Given the description of an element on the screen output the (x, y) to click on. 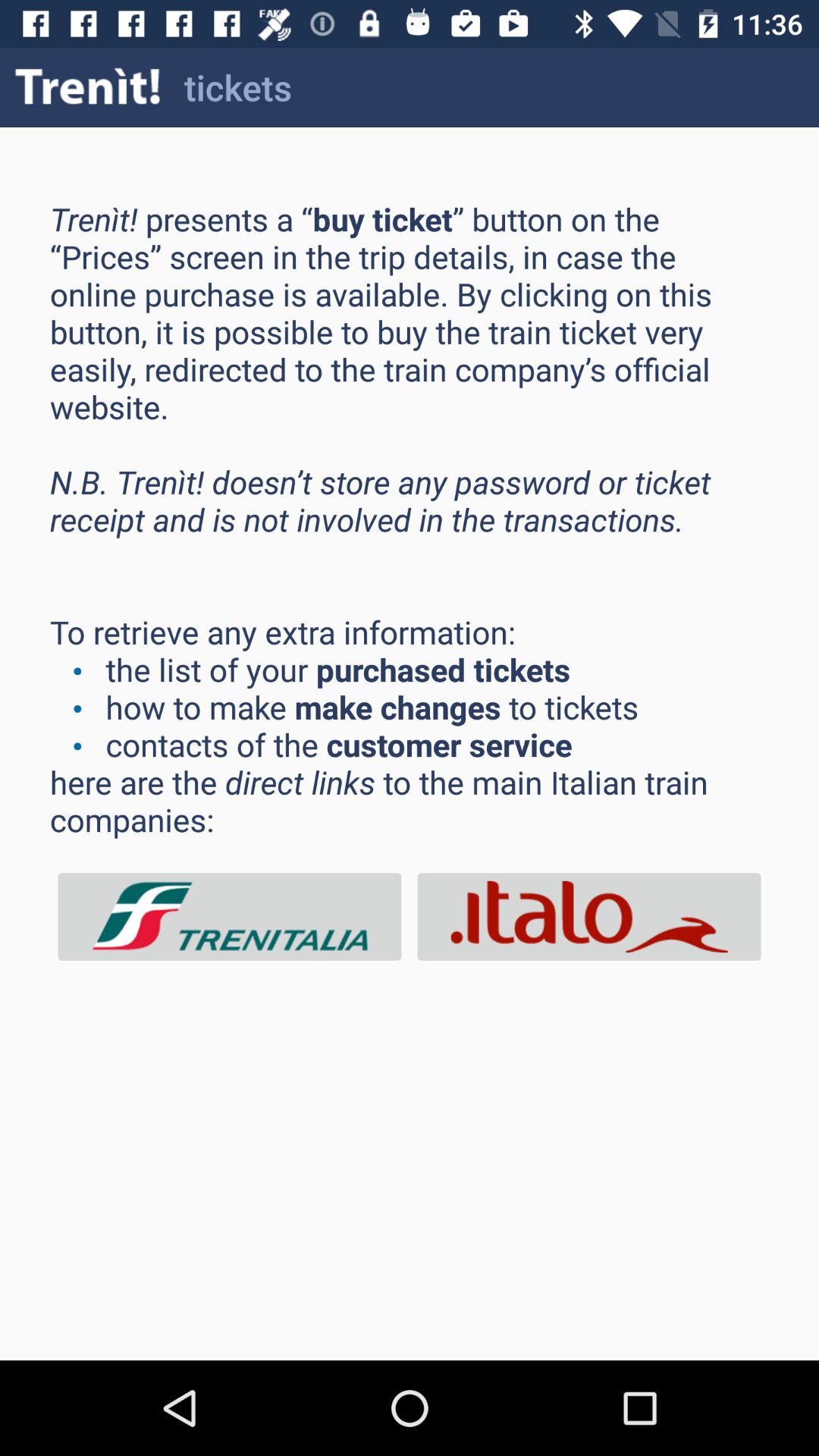
select item on the left (229, 916)
